Given the description of an element on the screen output the (x, y) to click on. 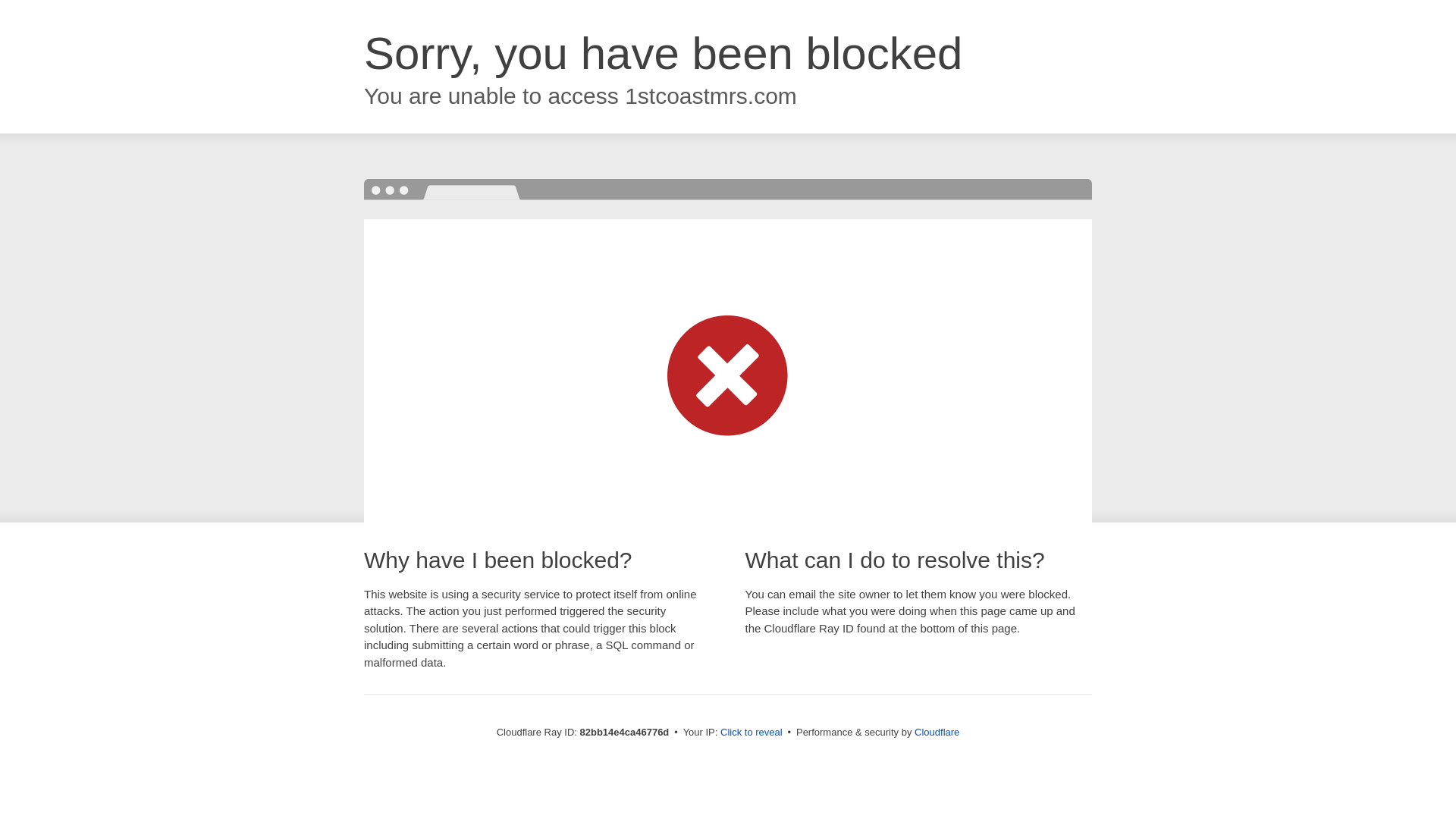
Cloudflare Element type: text (936, 731)
Click to reveal Element type: text (751, 732)
